Given the description of an element on the screen output the (x, y) to click on. 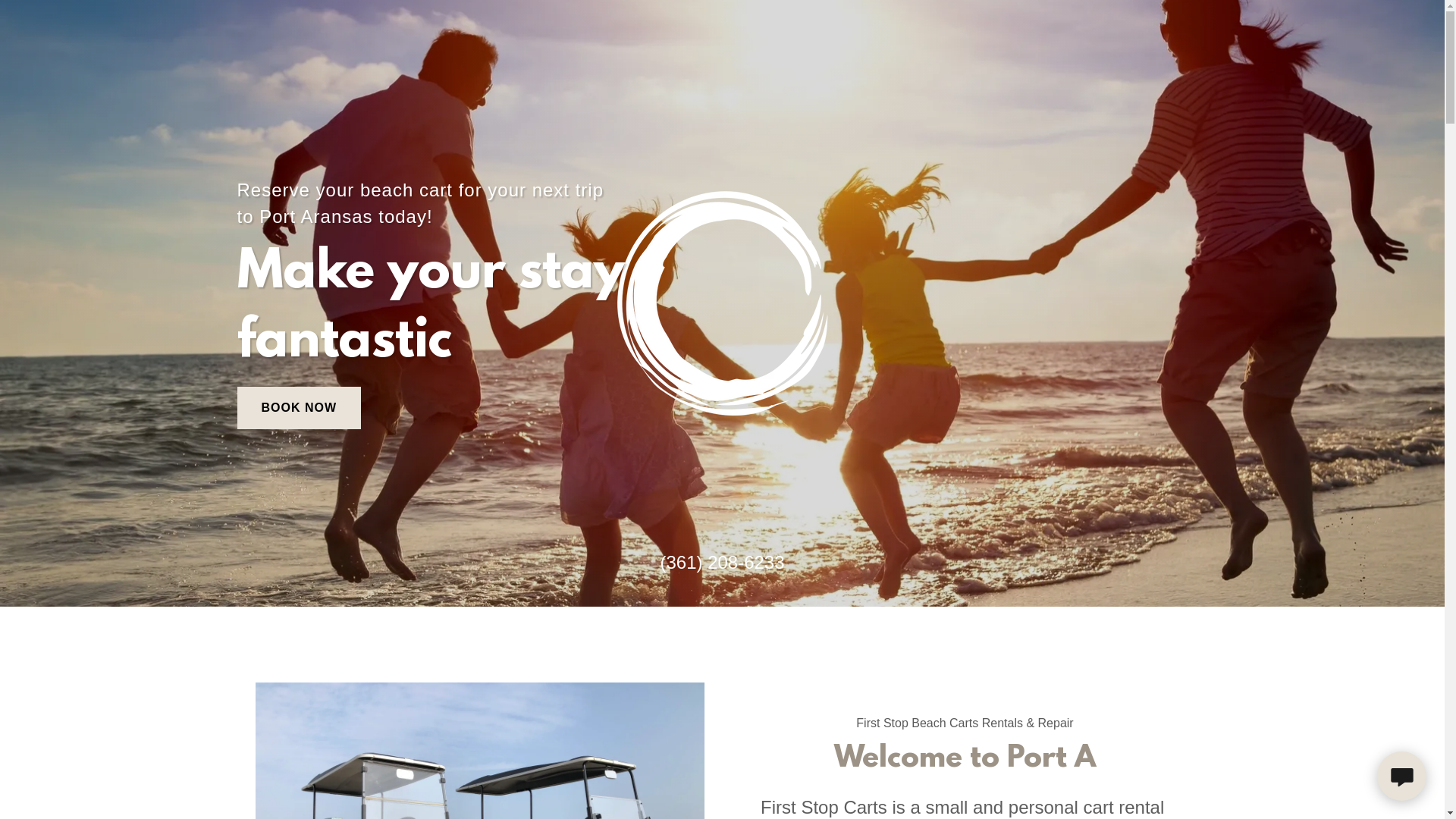
(361) 208-6233 Element type: text (721, 562)
BOOK NOW Element type: text (298, 407)
